Given the description of an element on the screen output the (x, y) to click on. 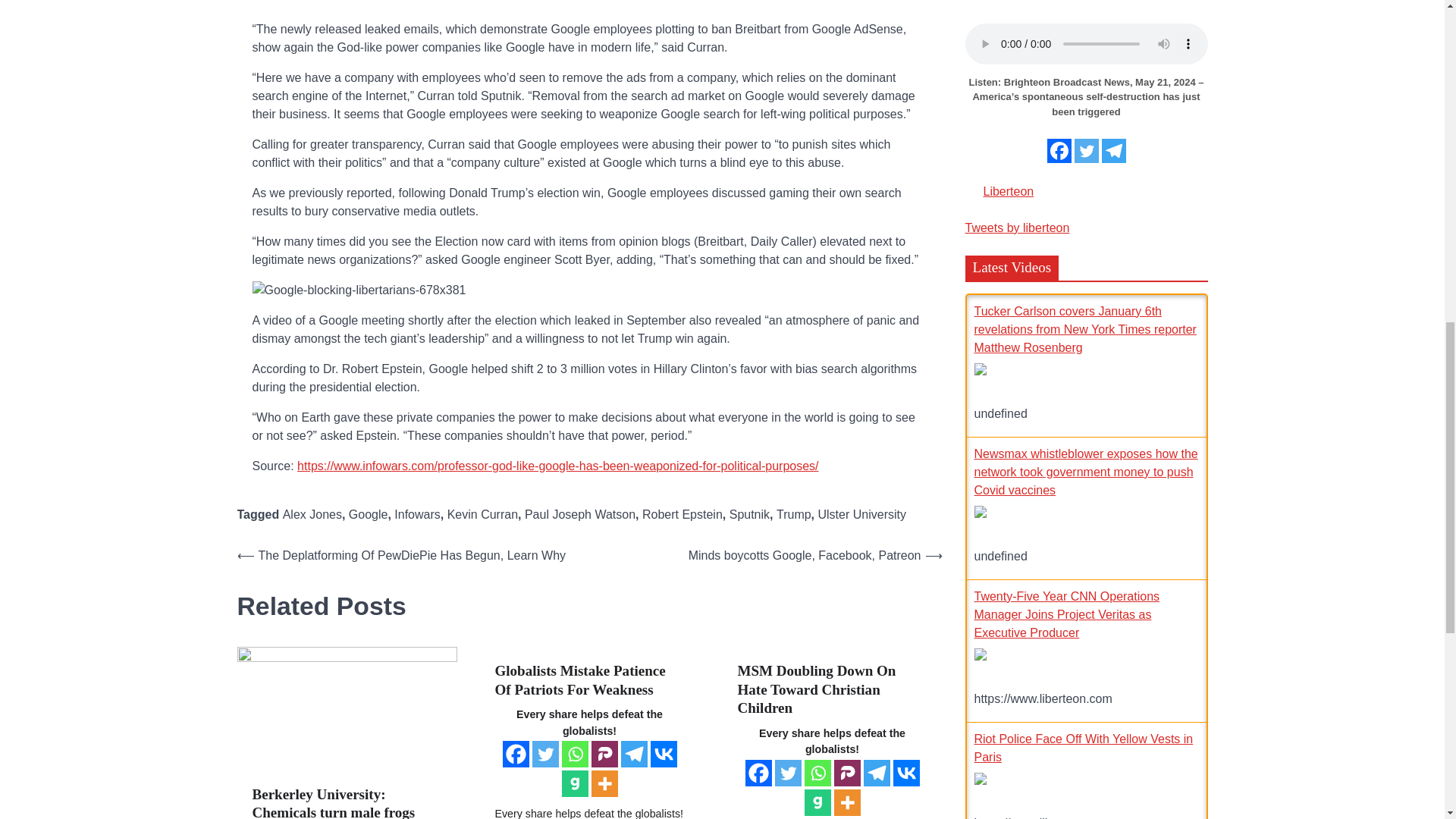
Alex Jones (312, 513)
Google (368, 513)
Kevin Curran (482, 513)
Robert Epstein (682, 513)
Paul Joseph Watson (579, 513)
Trump (793, 513)
Ulster University (860, 513)
Infowars (416, 513)
Sputnik (749, 513)
